Given the description of an element on the screen output the (x, y) to click on. 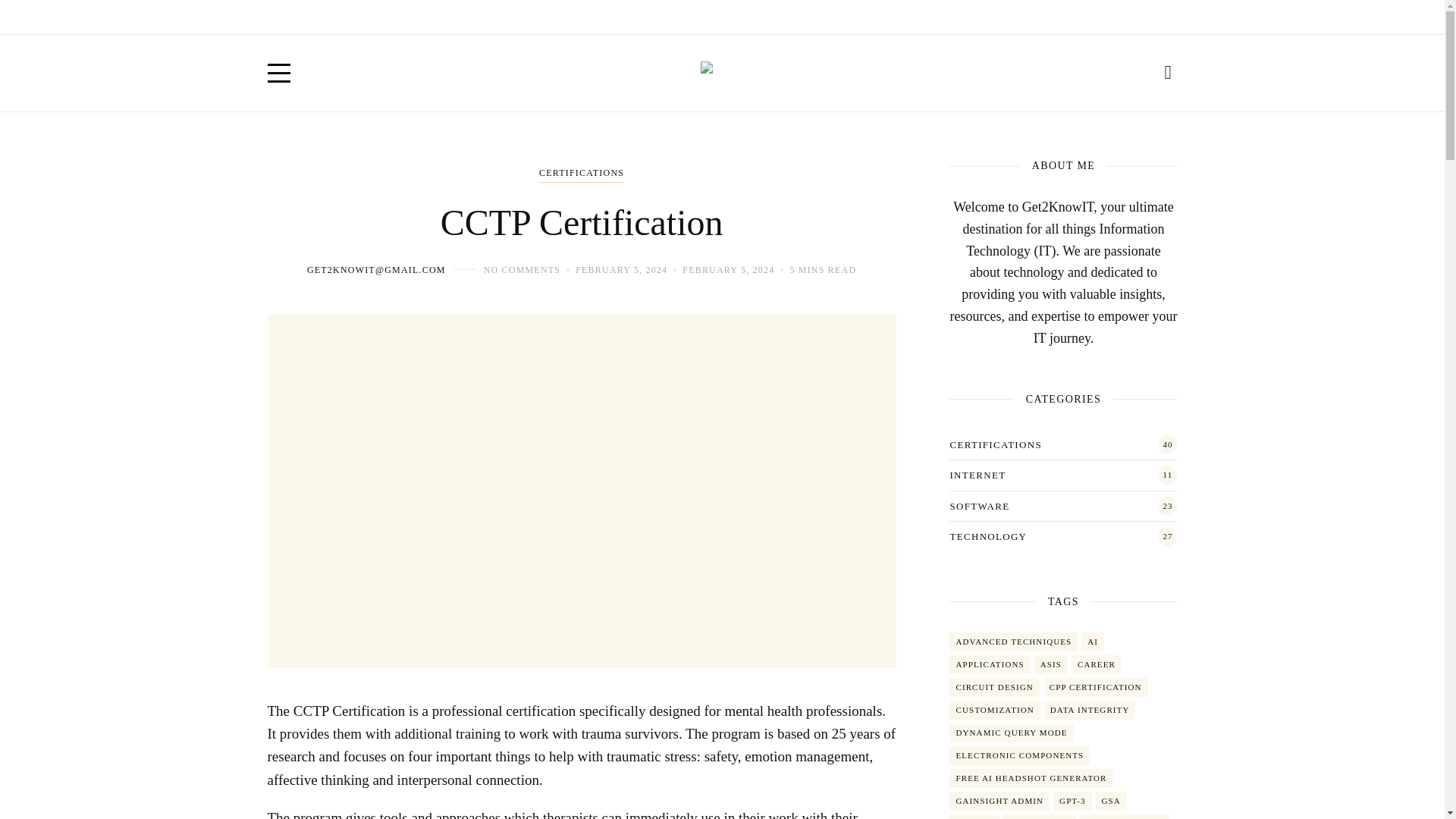
ABOUT US (340, 17)
Twitter (1102, 16)
NO COMMENTS (521, 269)
Facebook (1069, 16)
HOME (282, 17)
YouTube (1135, 16)
CONTACT US (416, 17)
Pinterest (1169, 16)
Logo (721, 72)
Categories (581, 174)
CERTIFICATIONS (581, 174)
